Given the description of an element on the screen output the (x, y) to click on. 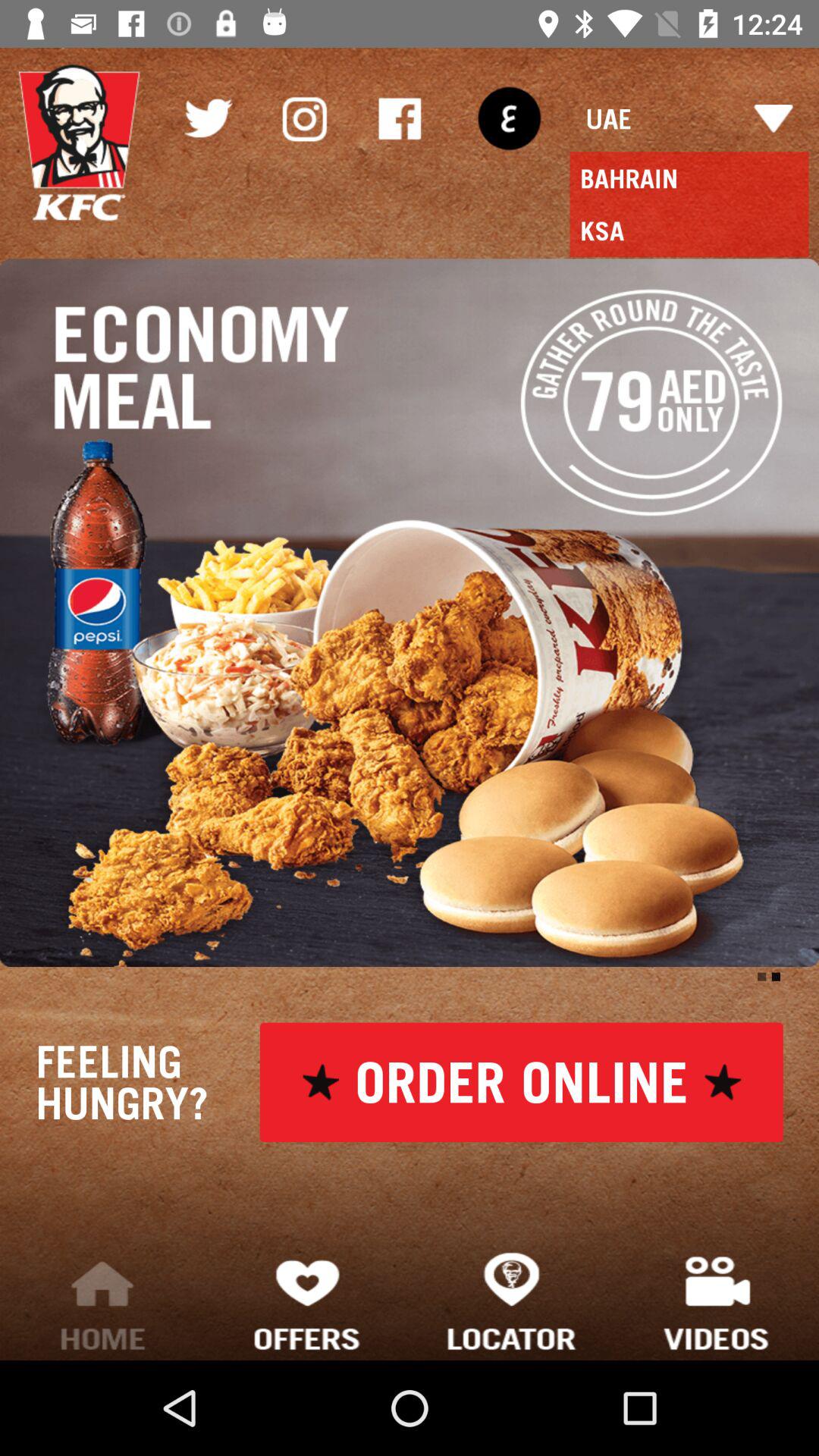
swipe to the ksa icon (688, 230)
